Given the description of an element on the screen output the (x, y) to click on. 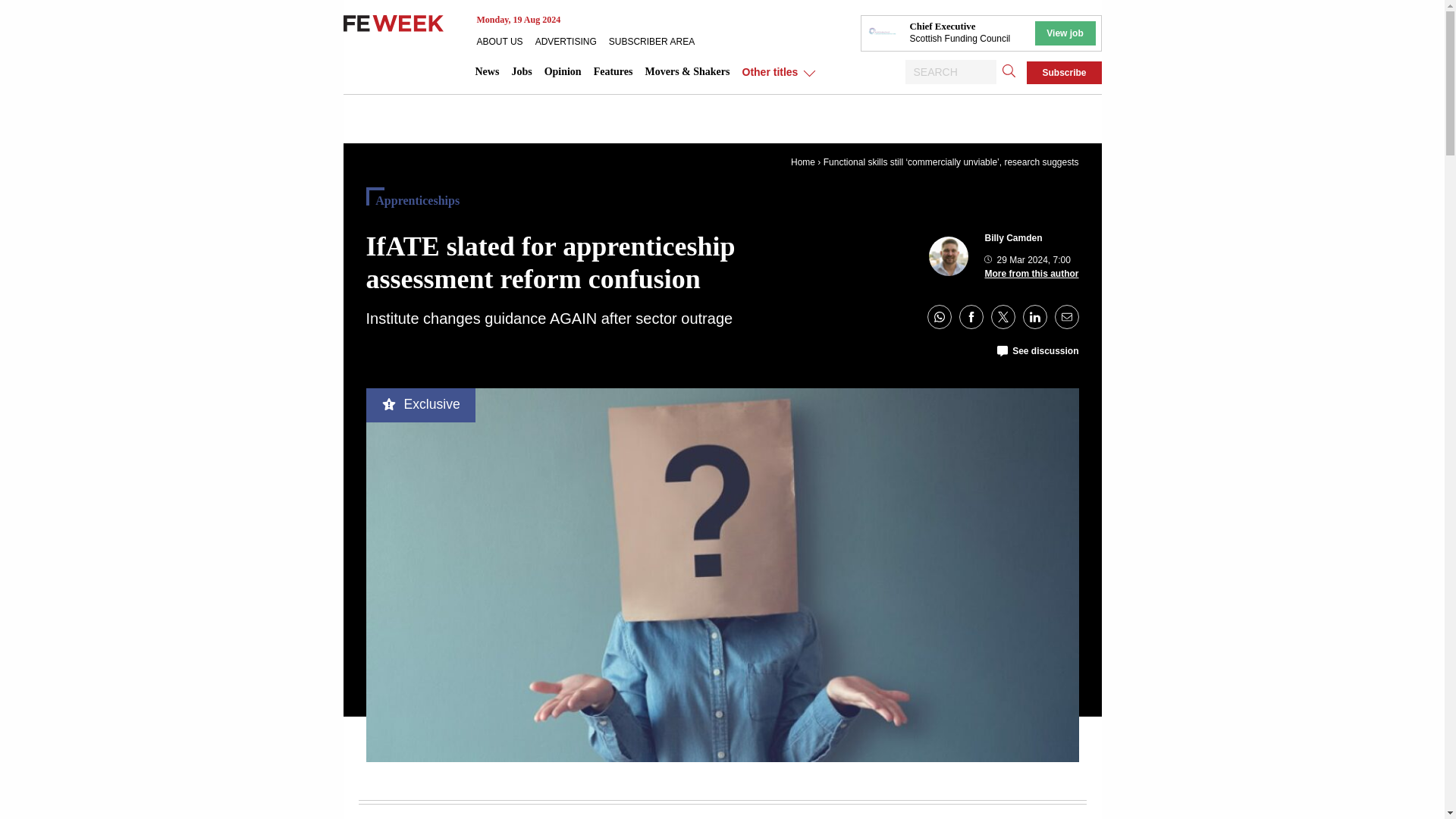
ABOUT US (505, 41)
SUBSCRIBER AREA (657, 41)
News (486, 71)
Home (802, 162)
ADVERTISING (571, 41)
Posts by Billy Camden (1013, 237)
View job (1063, 33)
